Given the description of an element on the screen output the (x, y) to click on. 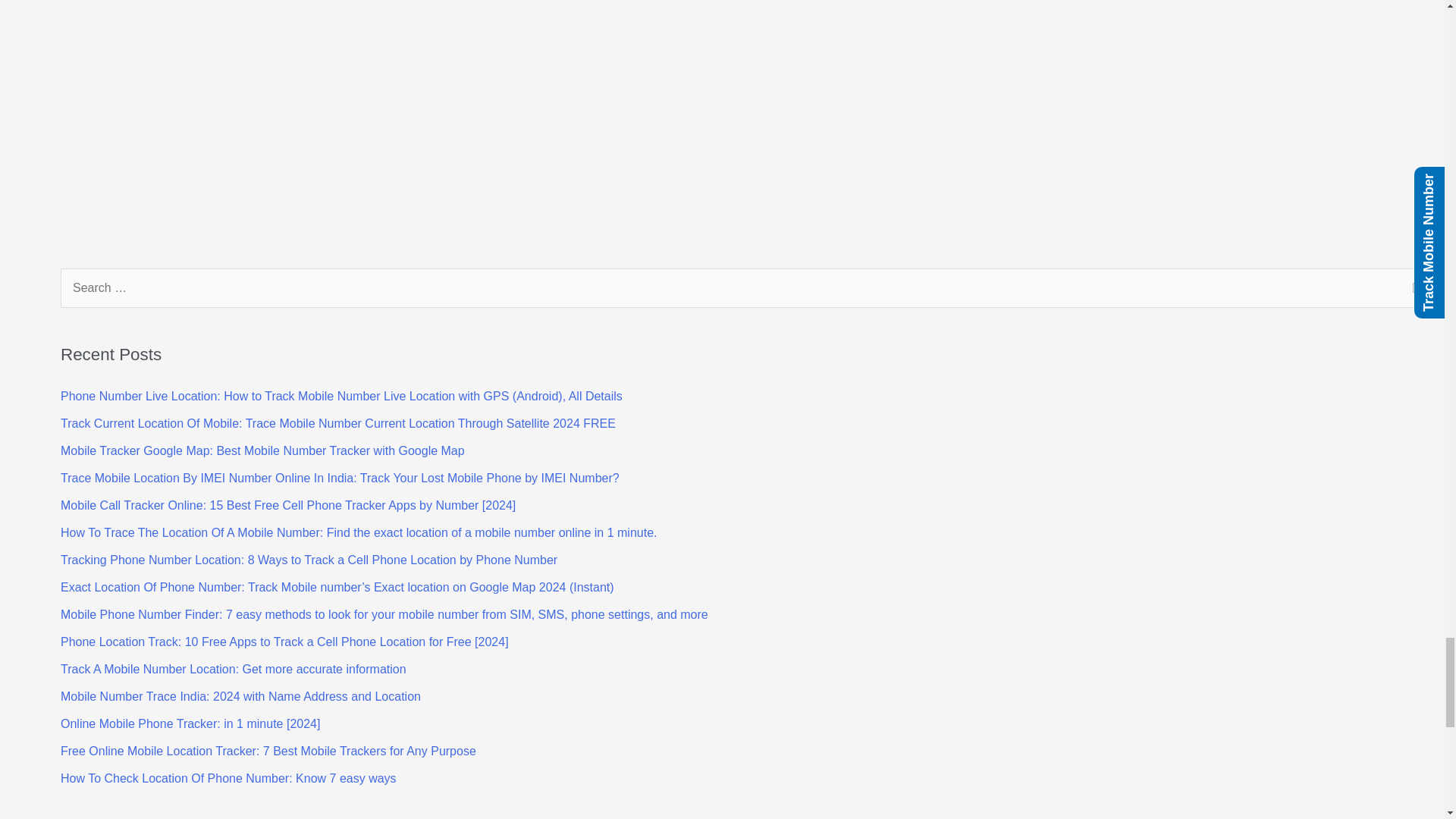
Advertisement (174, 117)
